Given the description of an element on the screen output the (x, y) to click on. 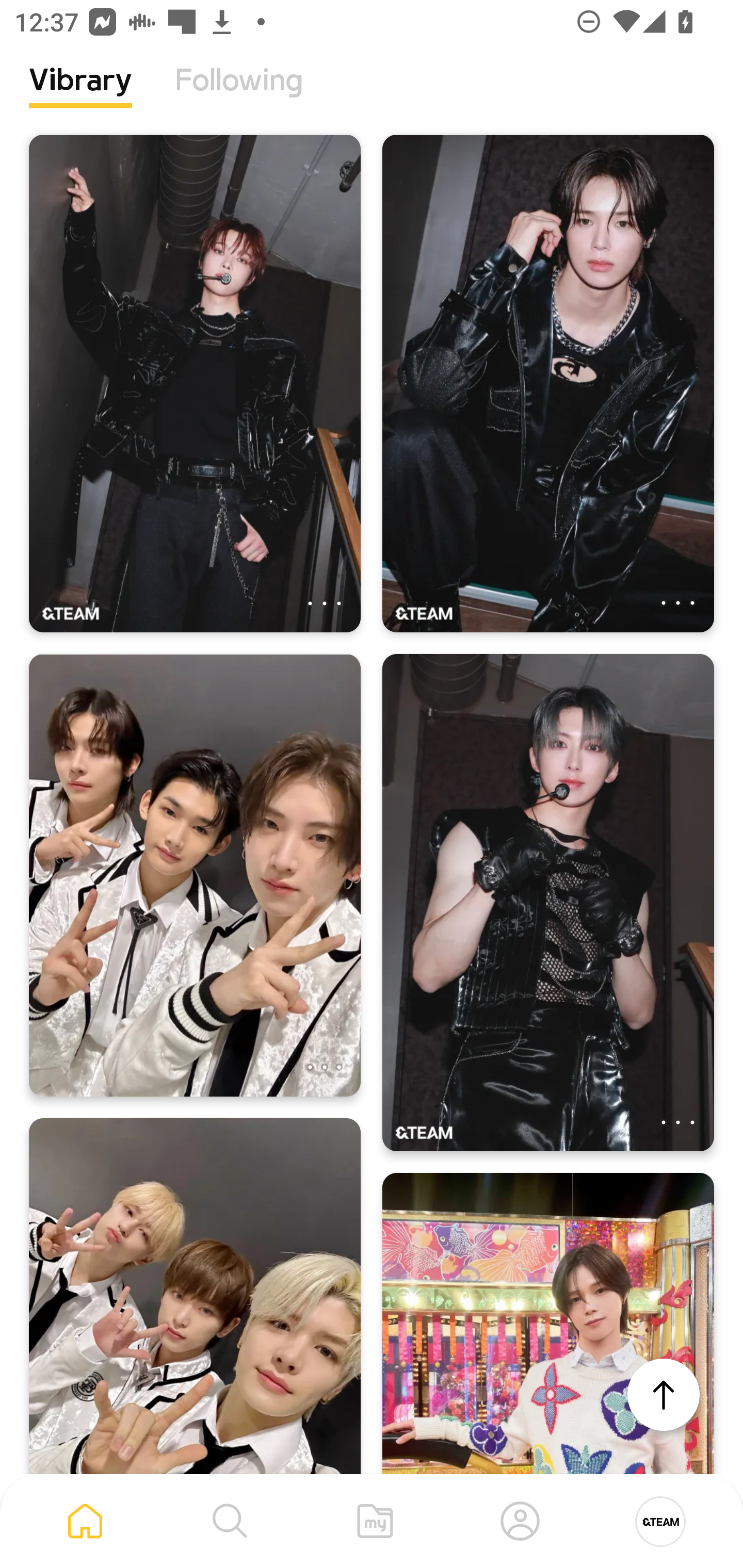
Vibrary (80, 95)
Following (239, 95)
